Given the description of an element on the screen output the (x, y) to click on. 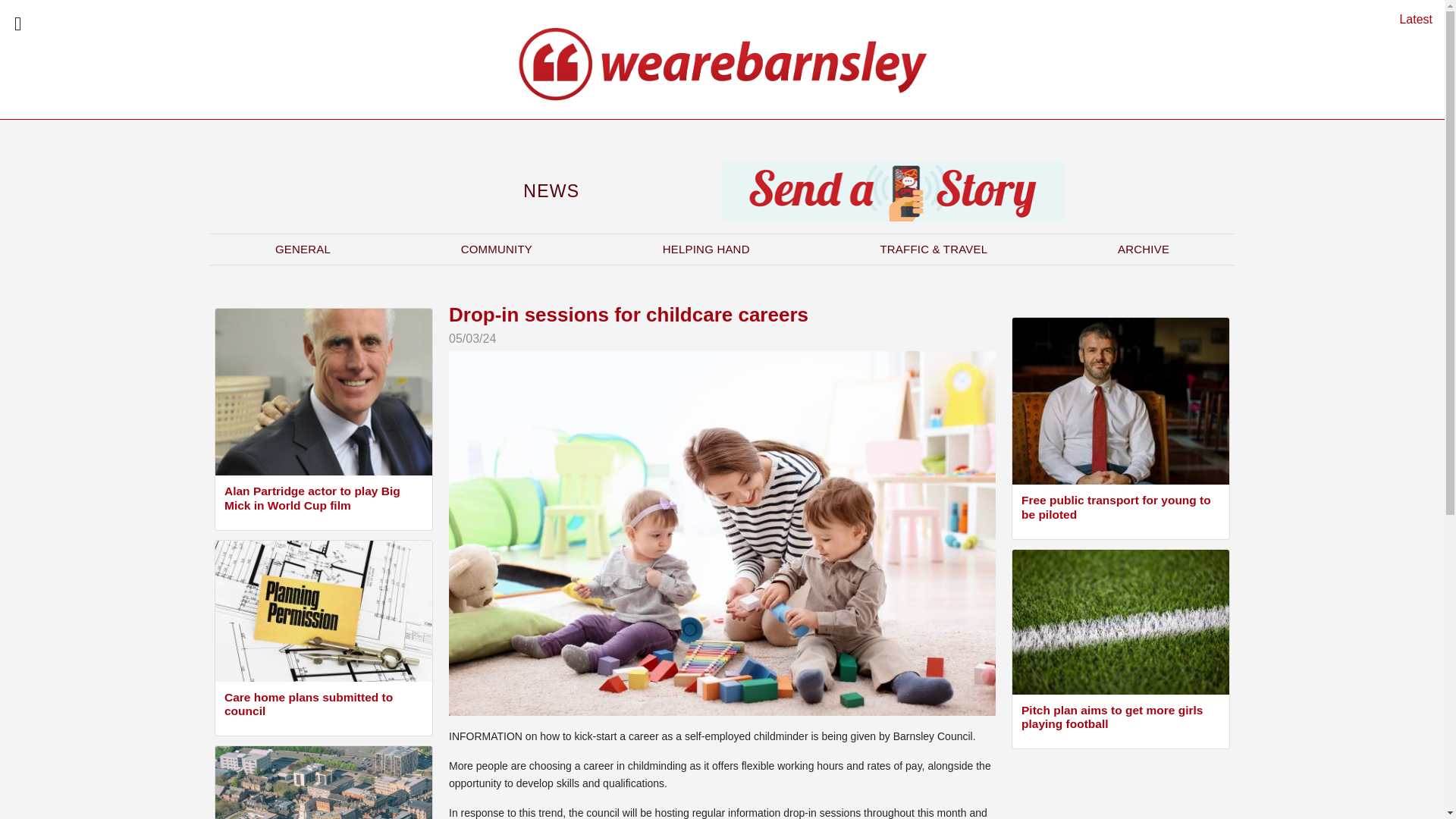
Care home plans submitted to council (323, 706)
Free public transport for young to be piloted (1121, 508)
HELPING HAND (705, 249)
Latest (1415, 19)
ARCHIVE (1143, 249)
GENERAL (302, 249)
COMMUNITY (496, 249)
Alan Partridge actor to play Big Mick in World Cup film (323, 499)
